Given the description of an element on the screen output the (x, y) to click on. 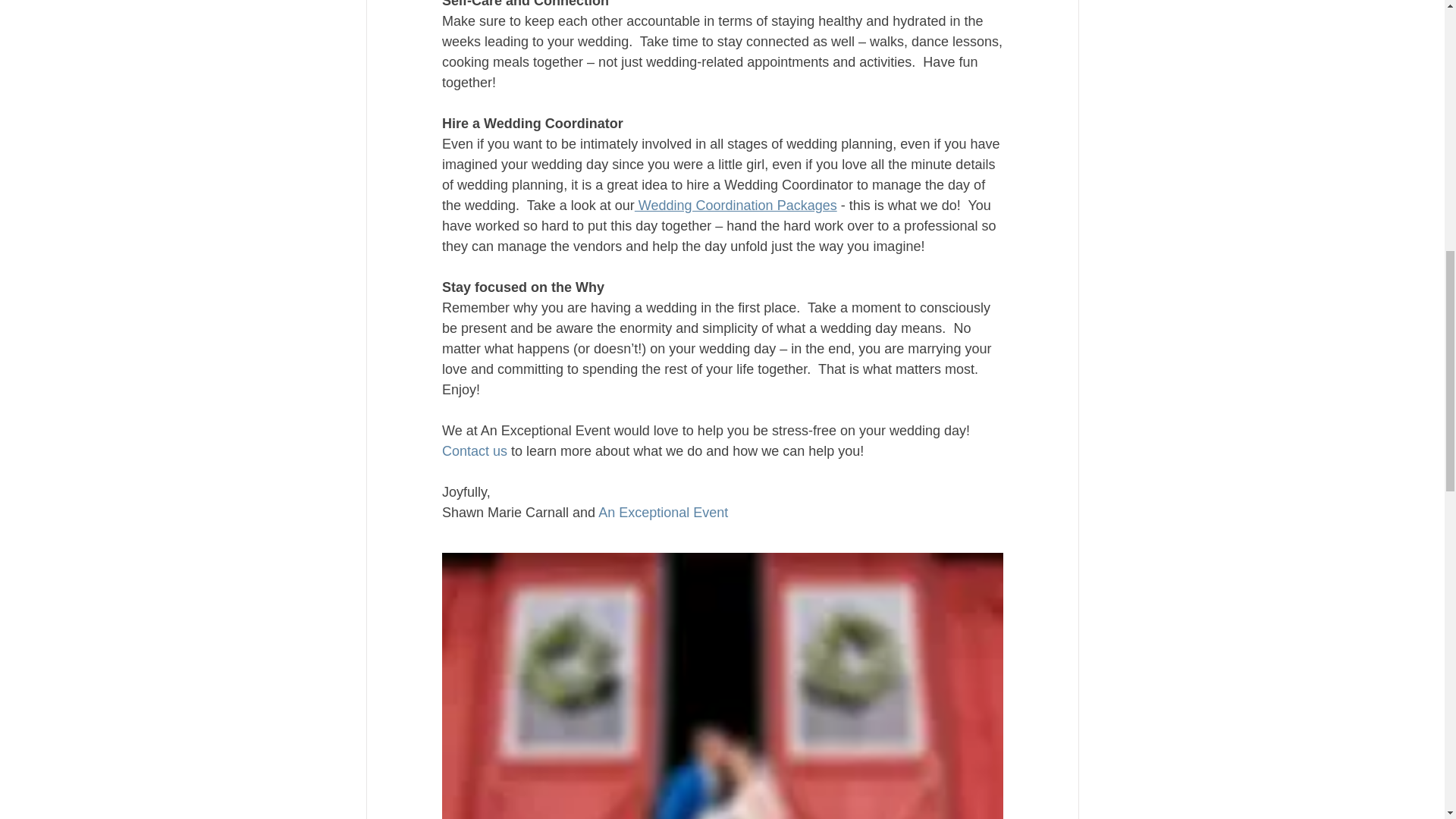
An Exceptional Event (663, 512)
Contact us (473, 450)
 Wedding Coordination Packages (734, 205)
